Given the description of an element on the screen output the (x, y) to click on. 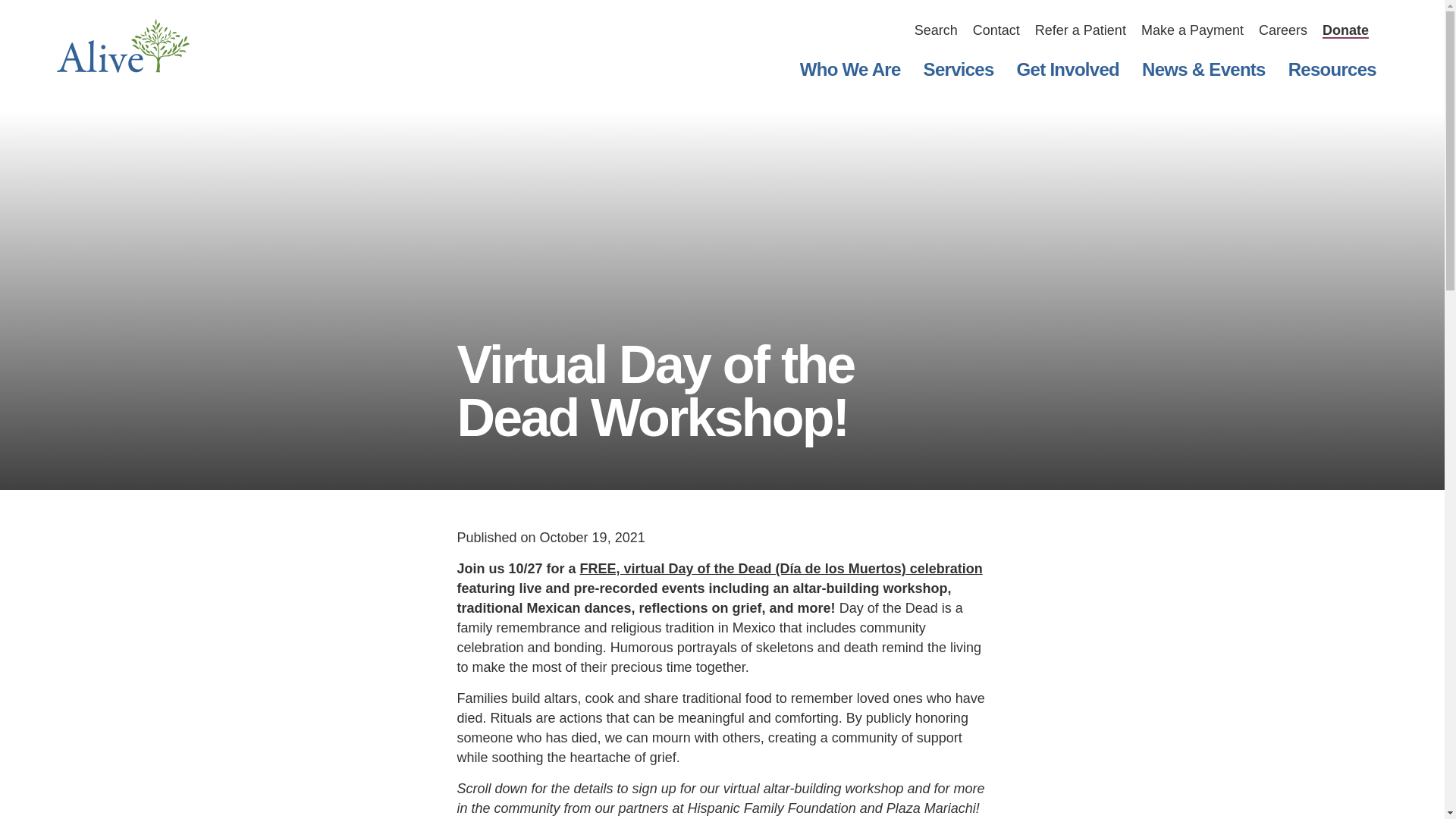
Refer a Patient (1080, 30)
Careers (1283, 30)
Donate (1345, 30)
Resources (1331, 69)
Contact (996, 30)
Services (959, 69)
Make a Payment (1192, 30)
Search (936, 30)
Get Involved (1068, 69)
Who We Are (850, 69)
